Given the description of an element on the screen output the (x, y) to click on. 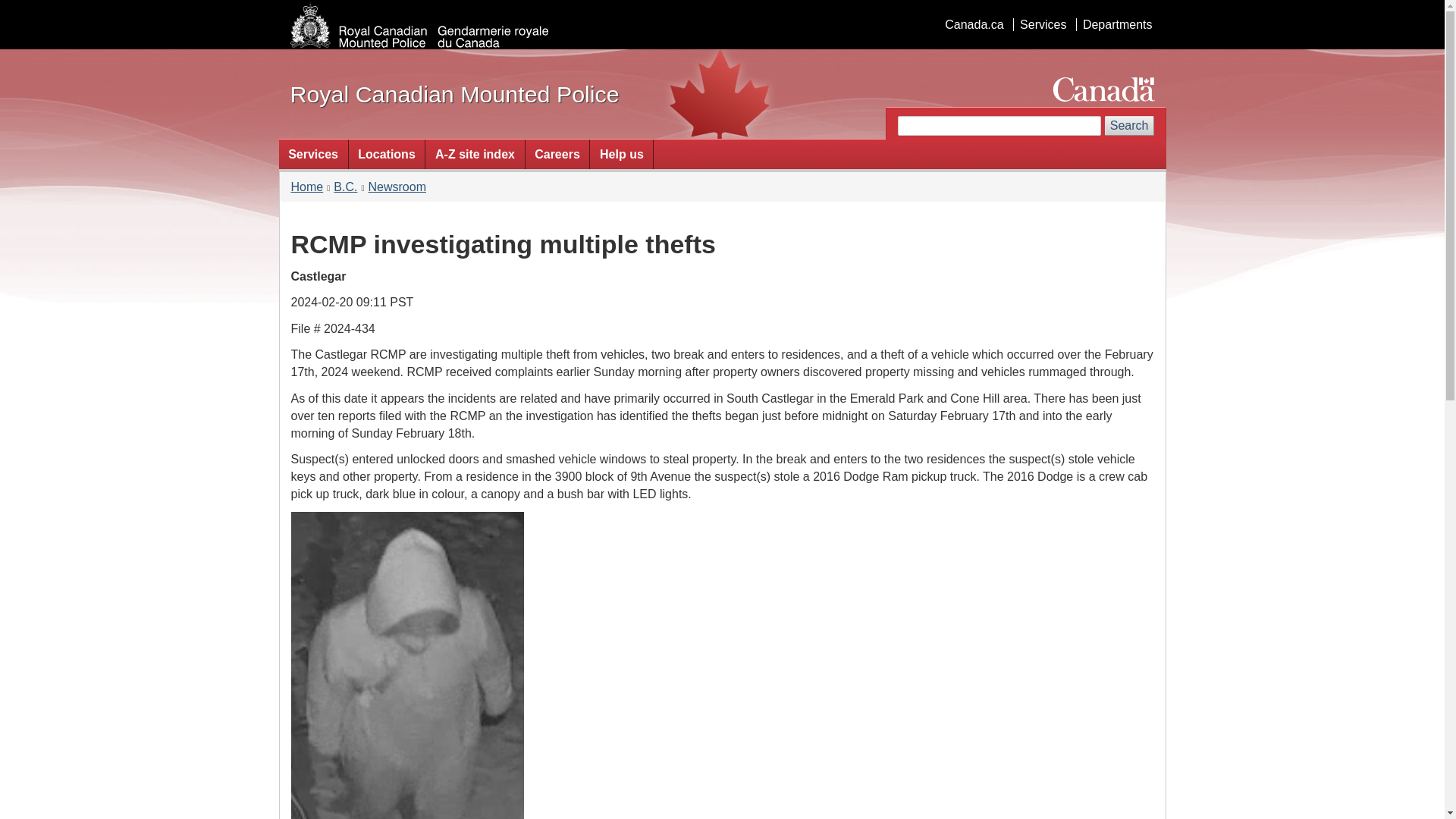
Home (307, 186)
Search (1129, 125)
Royal Canadian Mounted Police (453, 94)
Locations (387, 153)
Skip to main content (725, 11)
B.C. (344, 186)
Services (1042, 24)
Help us (620, 153)
Departments (1116, 24)
Canada.ca (974, 24)
